Given the description of an element on the screen output the (x, y) to click on. 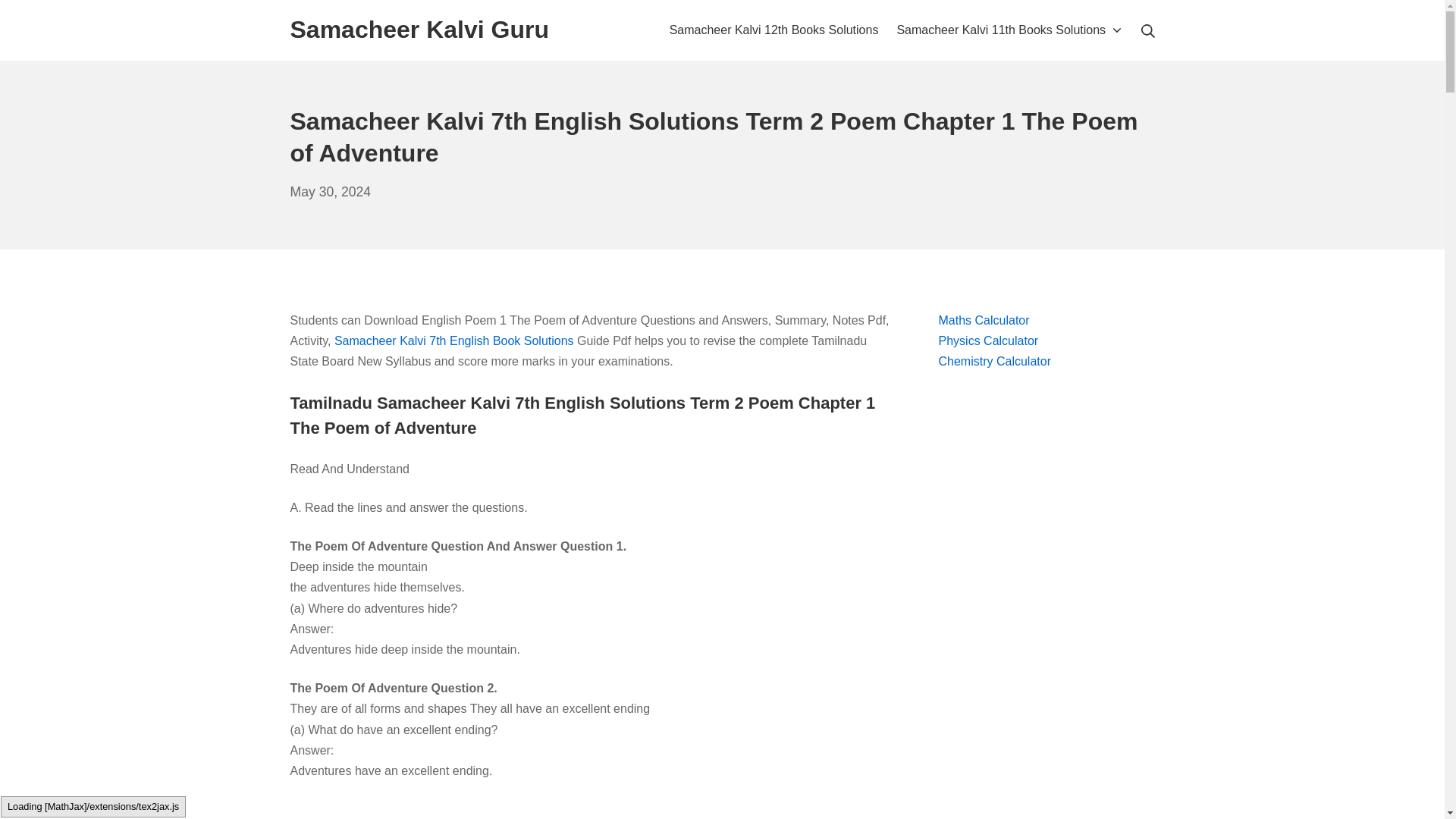
Samacheer Kalvi 12th Books Solutions (774, 29)
Samacheer Kalvi 11th Books Solutions (1009, 29)
Search (35, 15)
Physics Calculator (989, 340)
Chemistry Calculator (995, 360)
Maths Calculator (984, 319)
Samacheer Kalvi Guru (418, 29)
Samacheer Kalvi 7th English Book Solutions (330, 191)
